Given the description of an element on the screen output the (x, y) to click on. 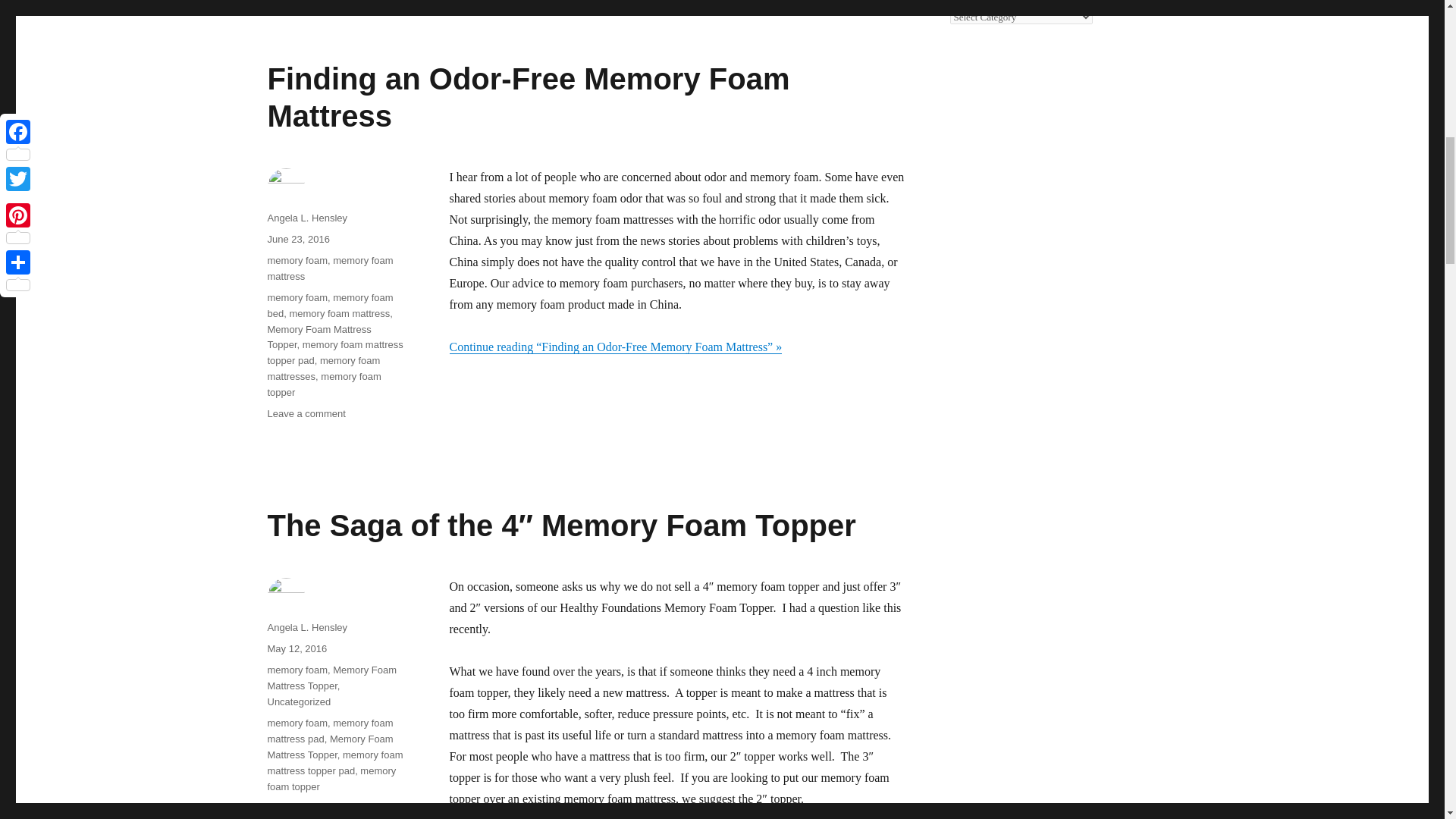
memory foam mattress (329, 267)
Angela L. Hensley (306, 217)
memory foam mattress topper pad (334, 352)
Memory Foam Mattress Topper (318, 336)
Finding an Odor-Free Memory Foam Mattress (527, 97)
memory foam bed (329, 305)
memory foam (296, 260)
memory foam mattresses (323, 368)
memory foam (305, 413)
